Given the description of an element on the screen output the (x, y) to click on. 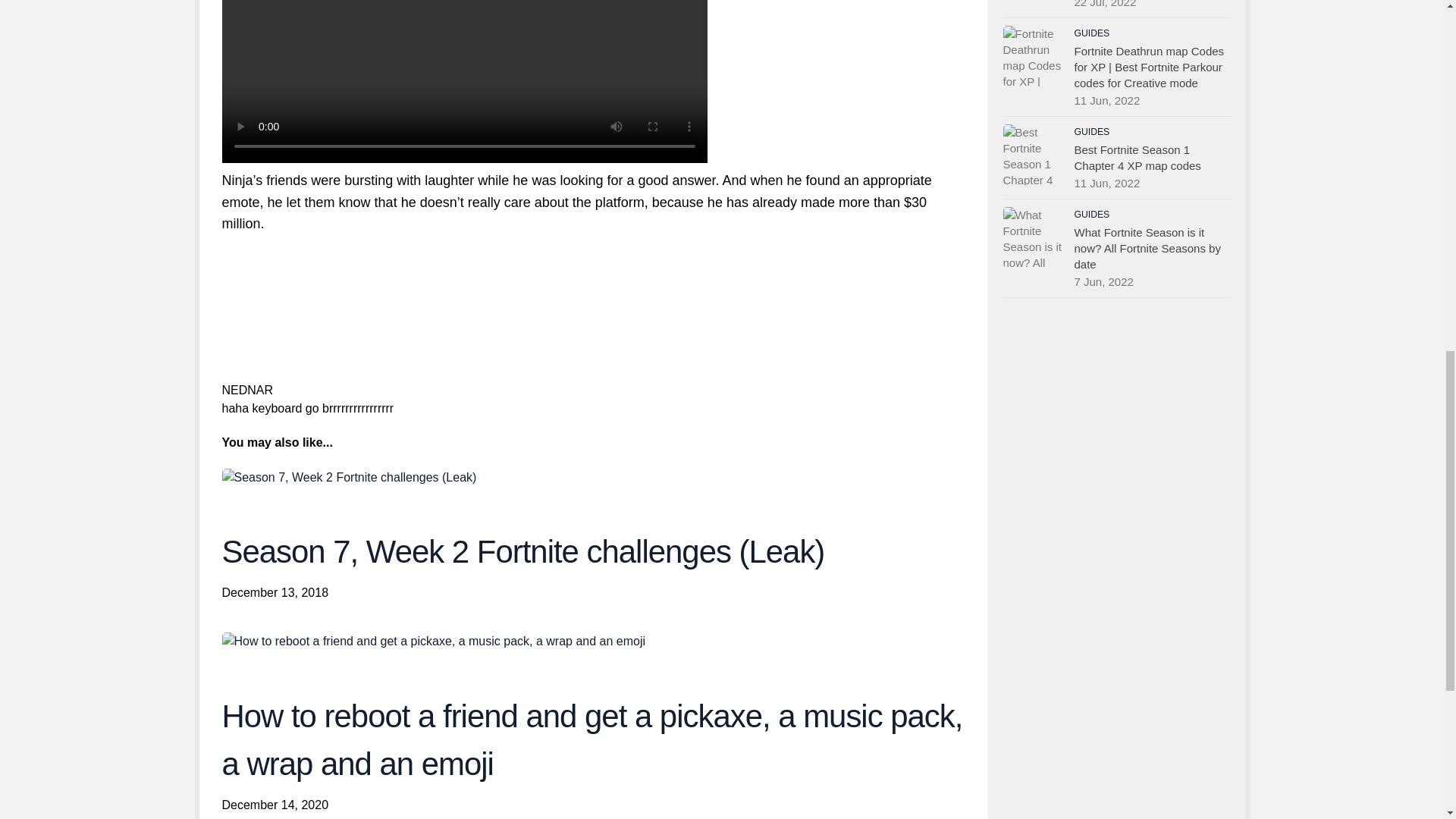
Best Fortnite Season 1 Chapter 4 XP map codes   (1032, 154)
